Given the description of an element on the screen output the (x, y) to click on. 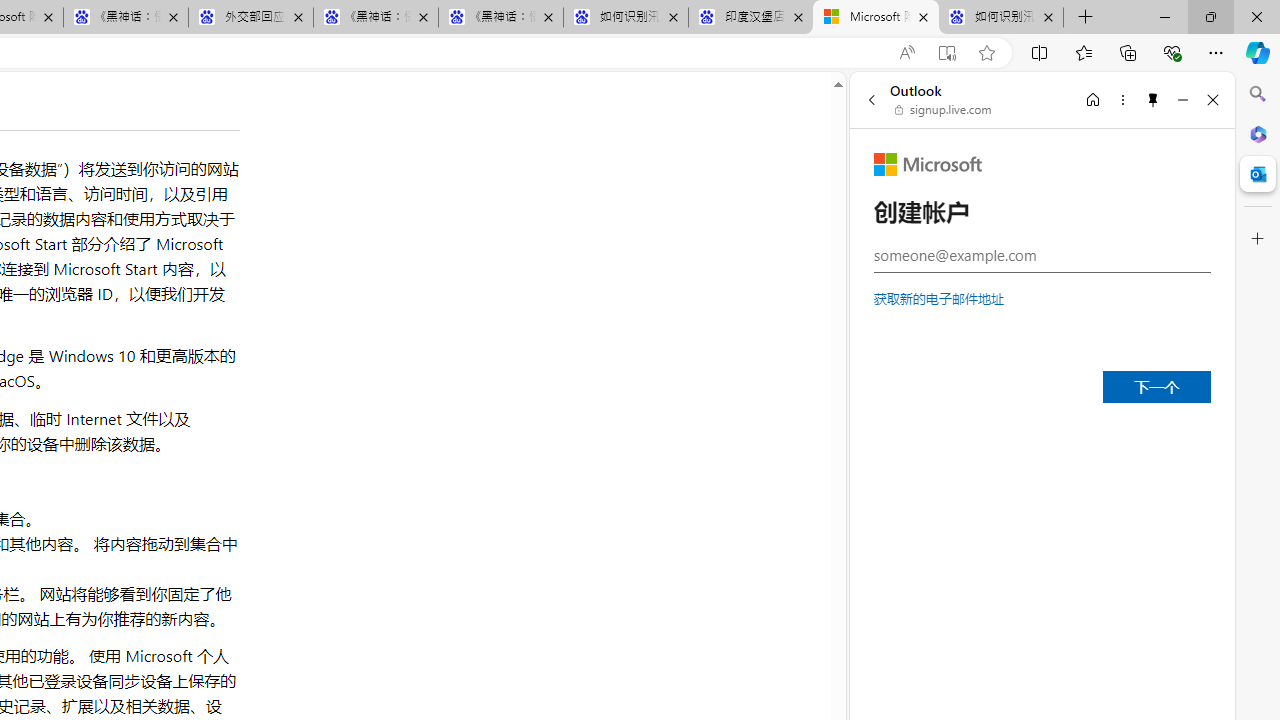
signup.live.com (943, 110)
